Given the description of an element on the screen output the (x, y) to click on. 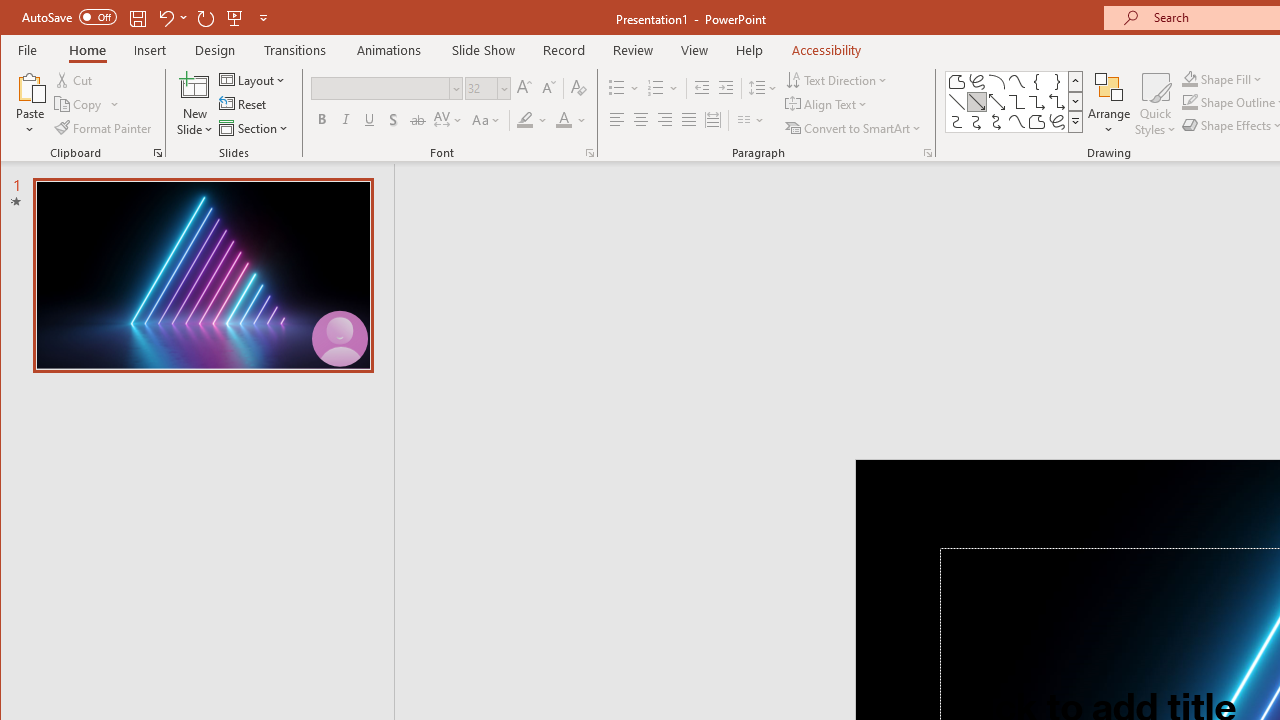
Line Arrow: Double (996, 102)
